Given the description of an element on the screen output the (x, y) to click on. 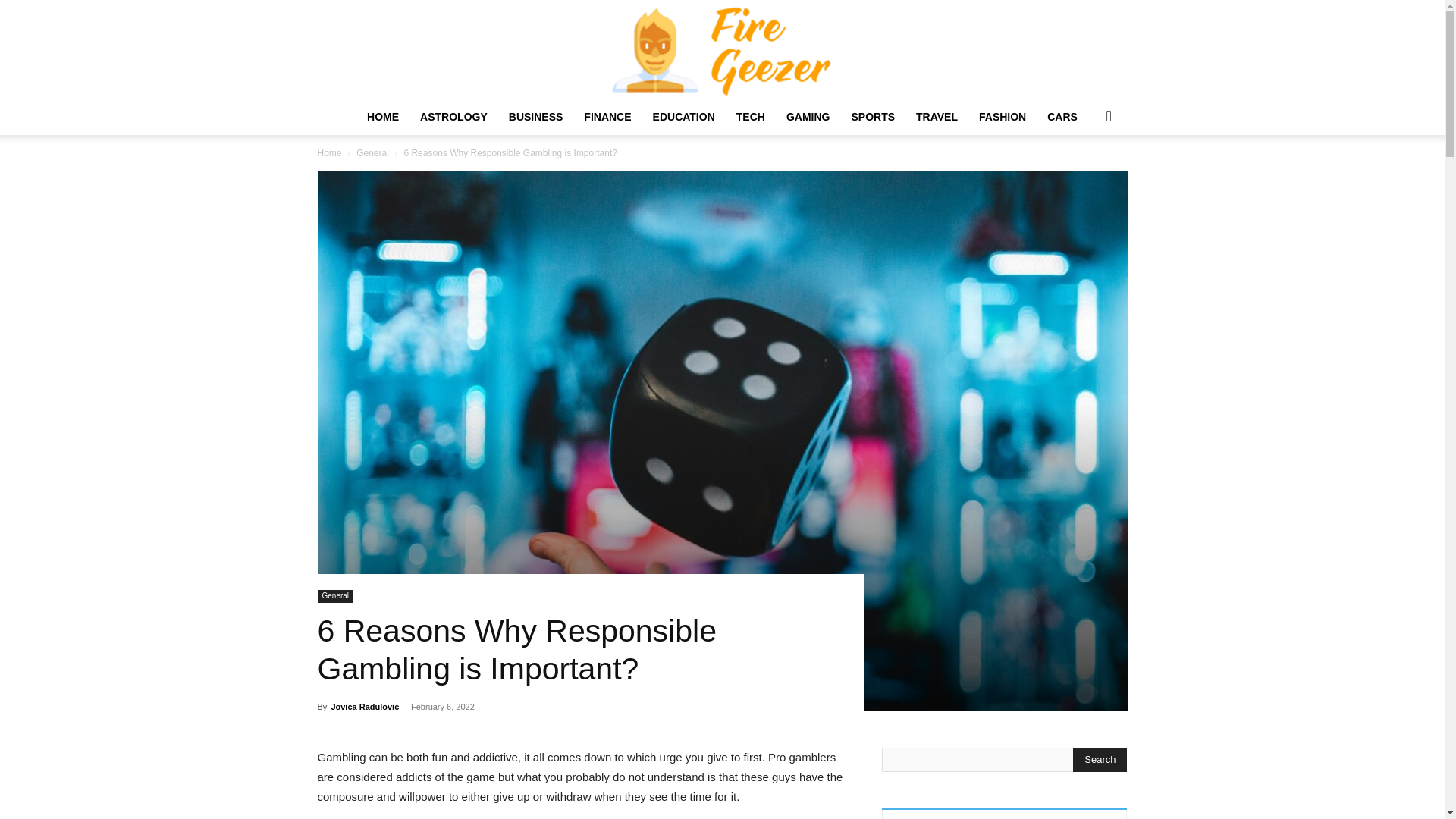
SPORTS (872, 116)
Home (328, 153)
HOME (382, 116)
FASHION (1002, 116)
BUSINESS (535, 116)
TECH (750, 116)
General (372, 153)
CARS (1061, 116)
Search (1085, 177)
ASTROLOGY (453, 116)
View all posts in General (372, 153)
Search (1099, 759)
Jovica Radulovic (364, 706)
General (335, 595)
